Given the description of an element on the screen output the (x, y) to click on. 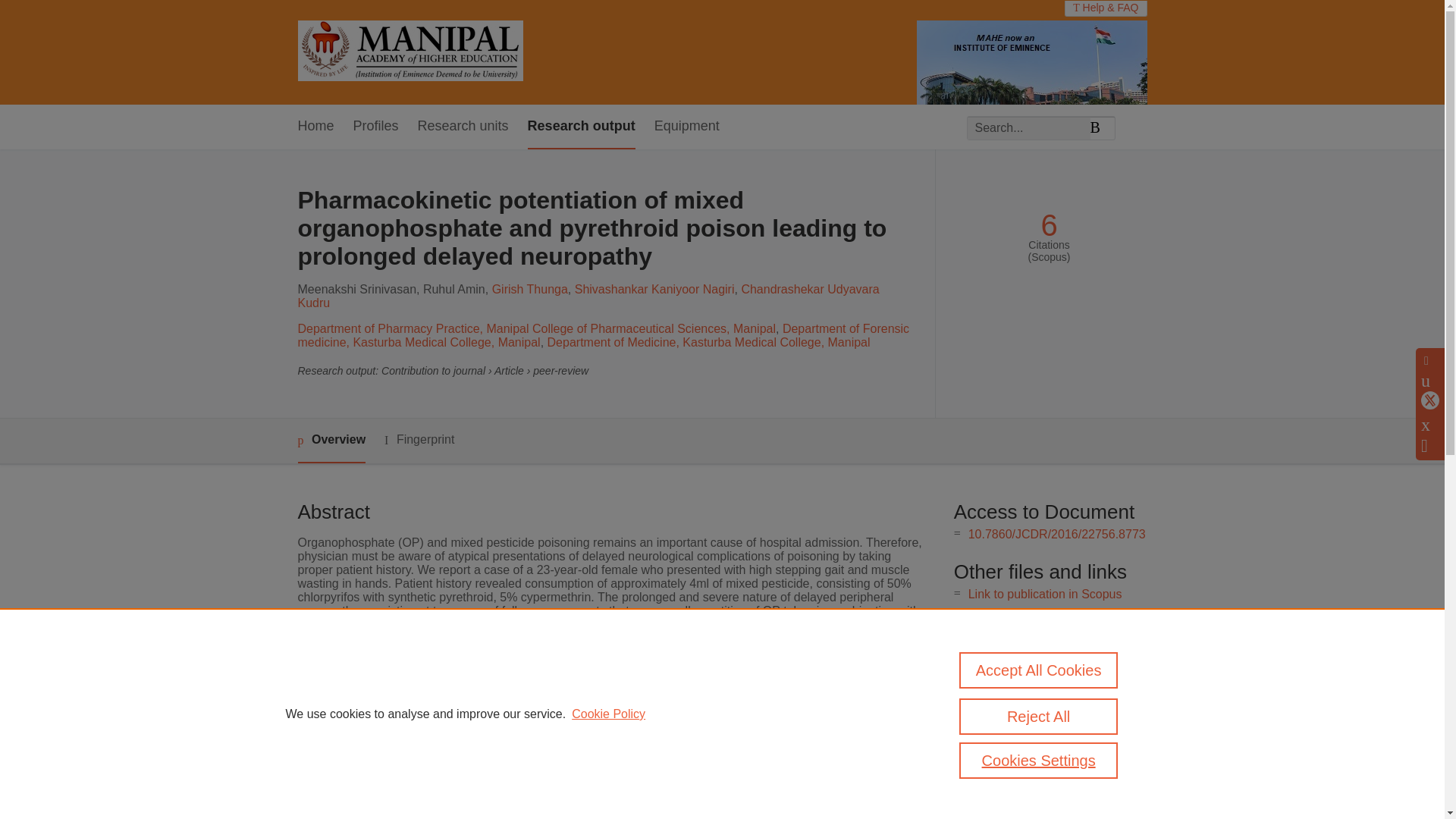
Research output (580, 126)
Overview (331, 440)
Fingerprint (419, 439)
Manipal Academy of Higher Education, Manipal, India Home (409, 52)
Shivashankar Kaniyoor Nagiri (655, 288)
Equipment (686, 126)
Link to citation list in Scopus (1044, 618)
Chandrashekar Udyavara Kudru (588, 295)
Link to publication in Scopus (1045, 594)
Journal of Clinical and Diagnostic Research (623, 697)
Girish Thunga (529, 288)
Profiles (375, 126)
